Given the description of an element on the screen output the (x, y) to click on. 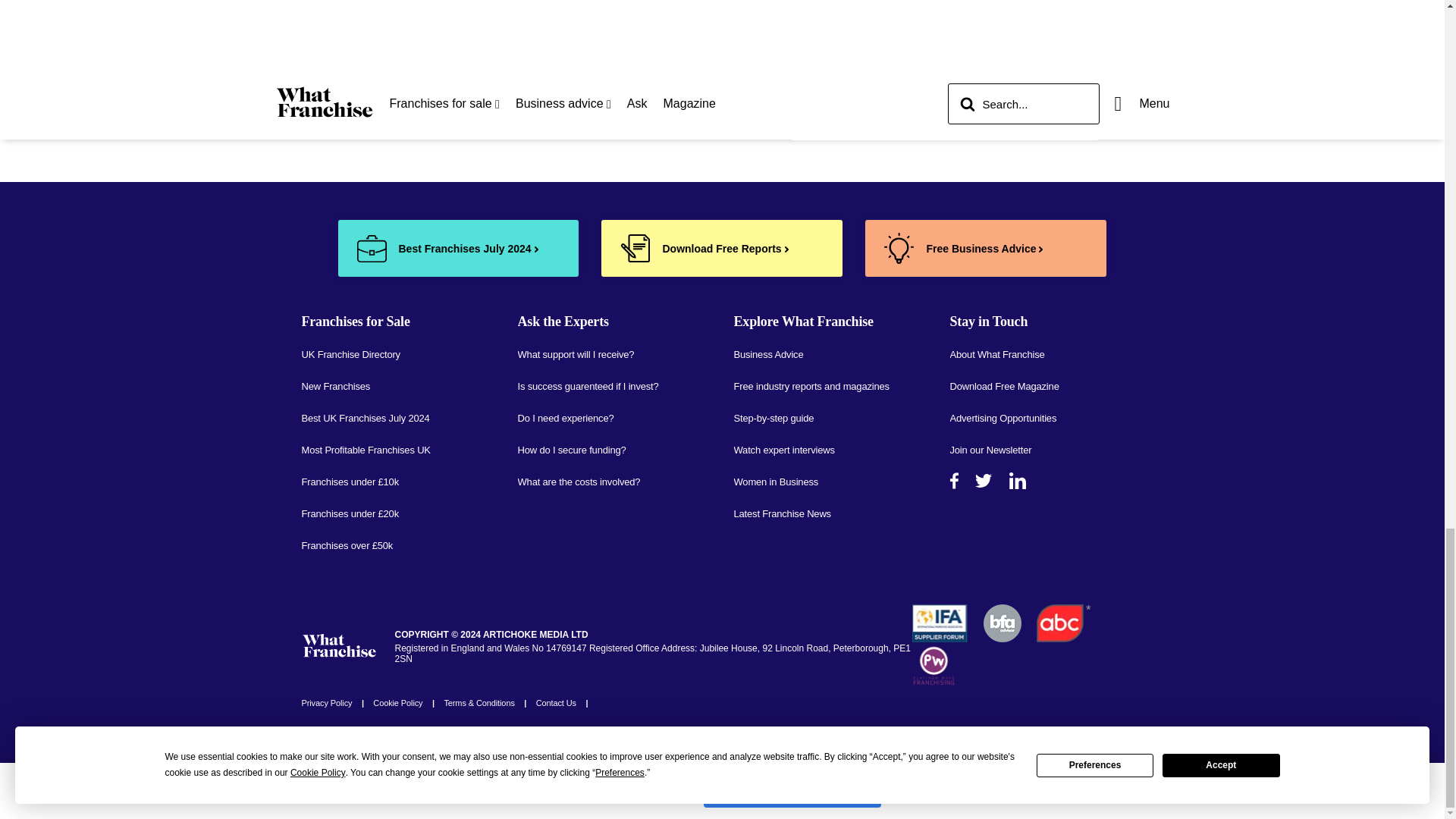
Get started! (1064, 36)
